Given the description of an element on the screen output the (x, y) to click on. 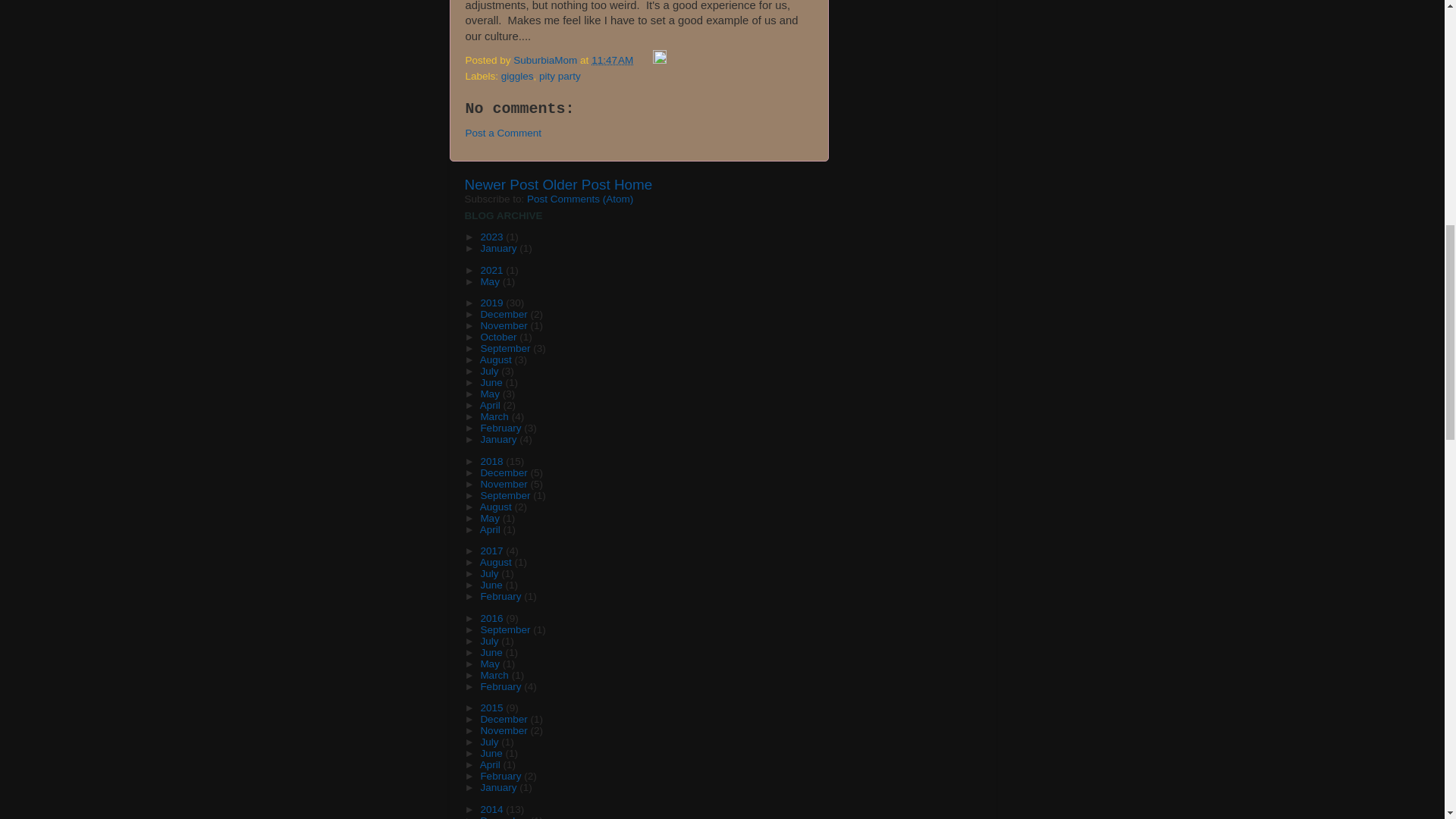
June (492, 382)
December (504, 314)
Home (633, 184)
author profile (546, 60)
May (491, 281)
January (499, 247)
Older Post (575, 184)
pity party (559, 75)
Edit Post (659, 60)
Newer Post (501, 184)
Newer Post (501, 184)
August (497, 359)
Email Post (644, 60)
October (499, 337)
